Given the description of an element on the screen output the (x, y) to click on. 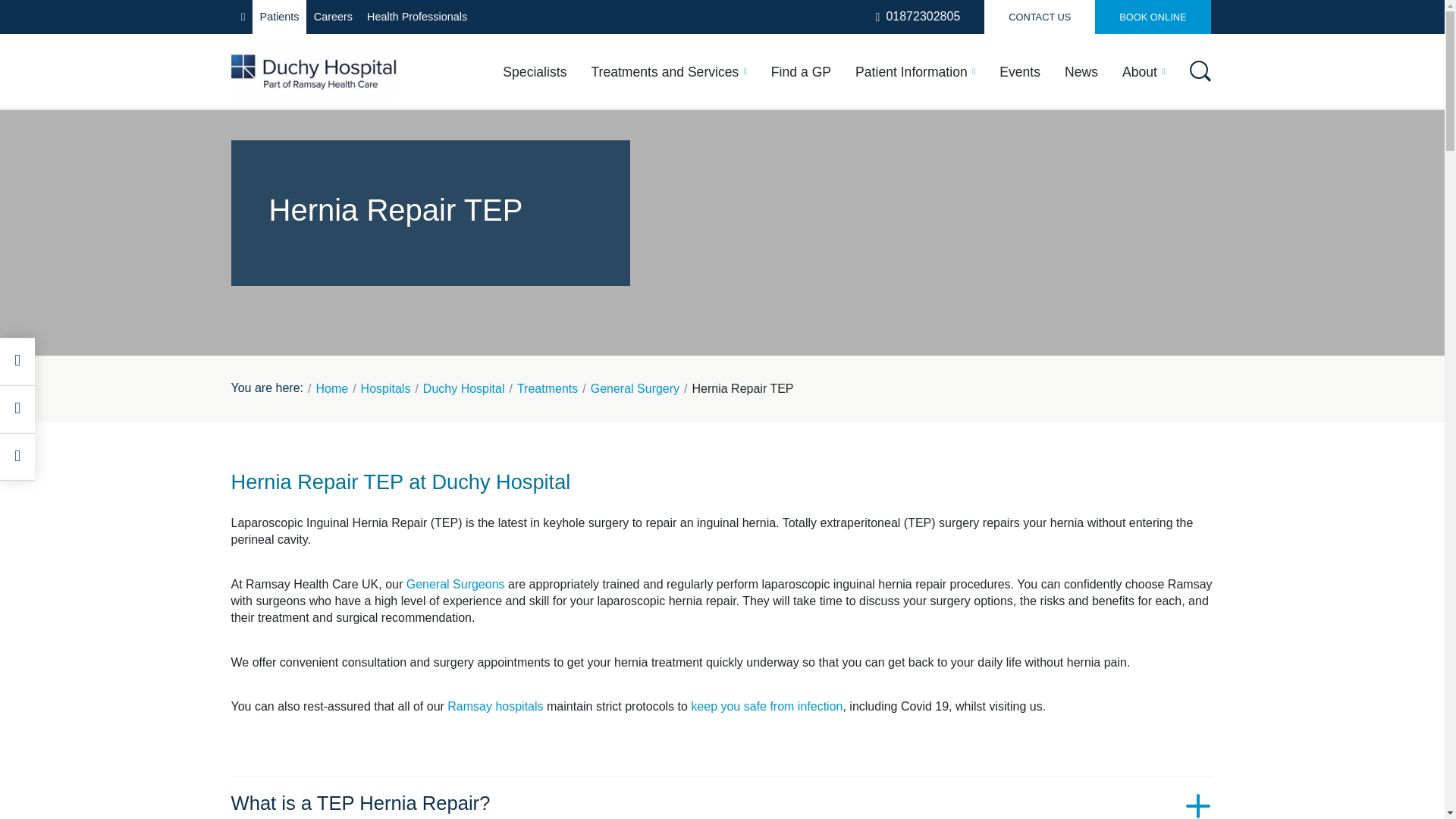
01872302805 (918, 17)
Gastric Sleeve (684, 281)
Weight loss Surgery (331, 347)
Aquablation Therapy (703, 217)
Cataract Surgery (863, 249)
Ear Nose and Throat (333, 235)
Cosmetic Surgery (498, 179)
Ultrasound (1041, 306)
Back Surgery (852, 217)
Endoscopy (1042, 342)
